Given the description of an element on the screen output the (x, y) to click on. 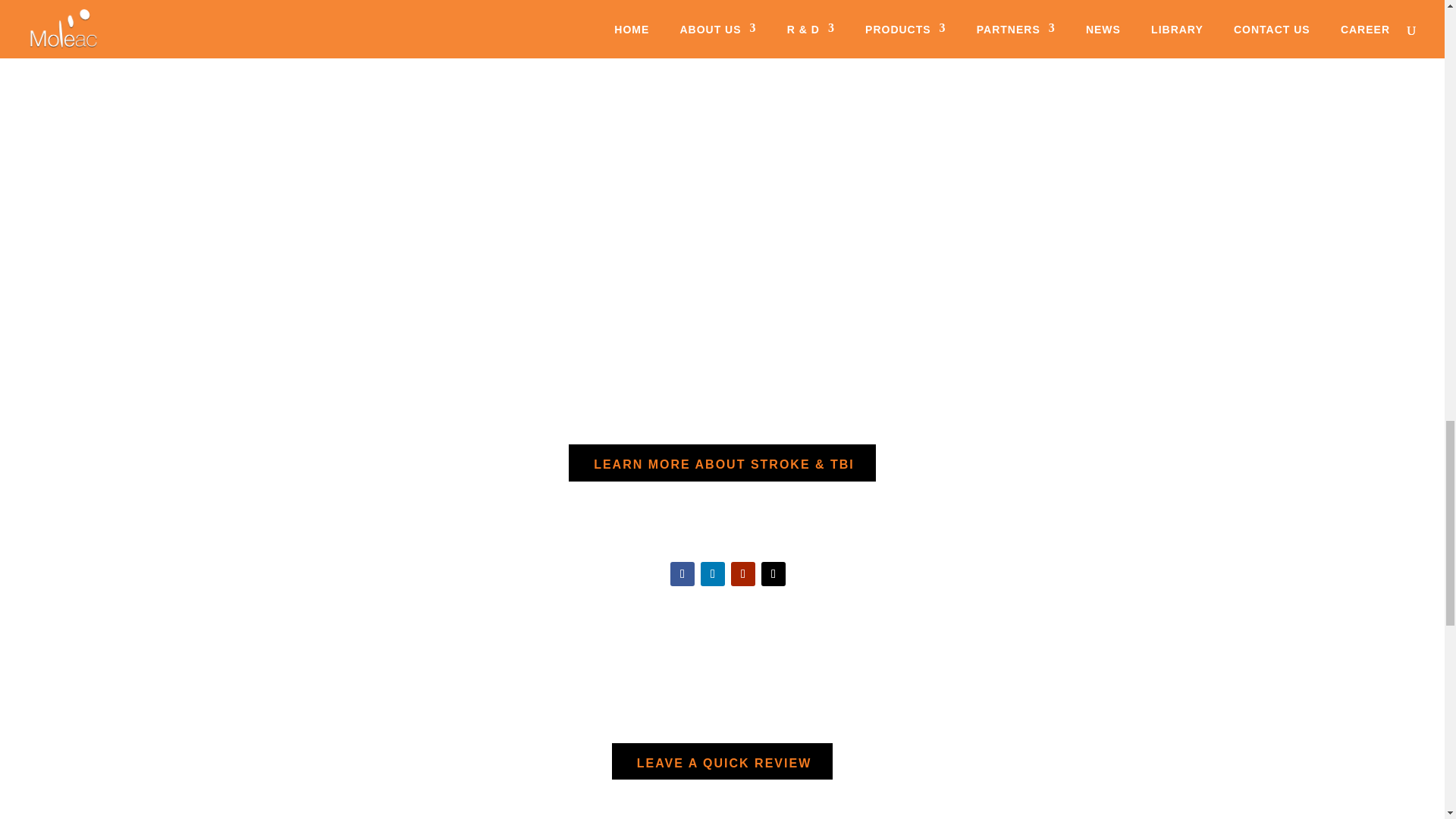
Follow on Youtube (742, 573)
Follow on Facebook (681, 573)
Follow on LinkedIn (712, 573)
Follow on X (773, 573)
